Given the description of an element on the screen output the (x, y) to click on. 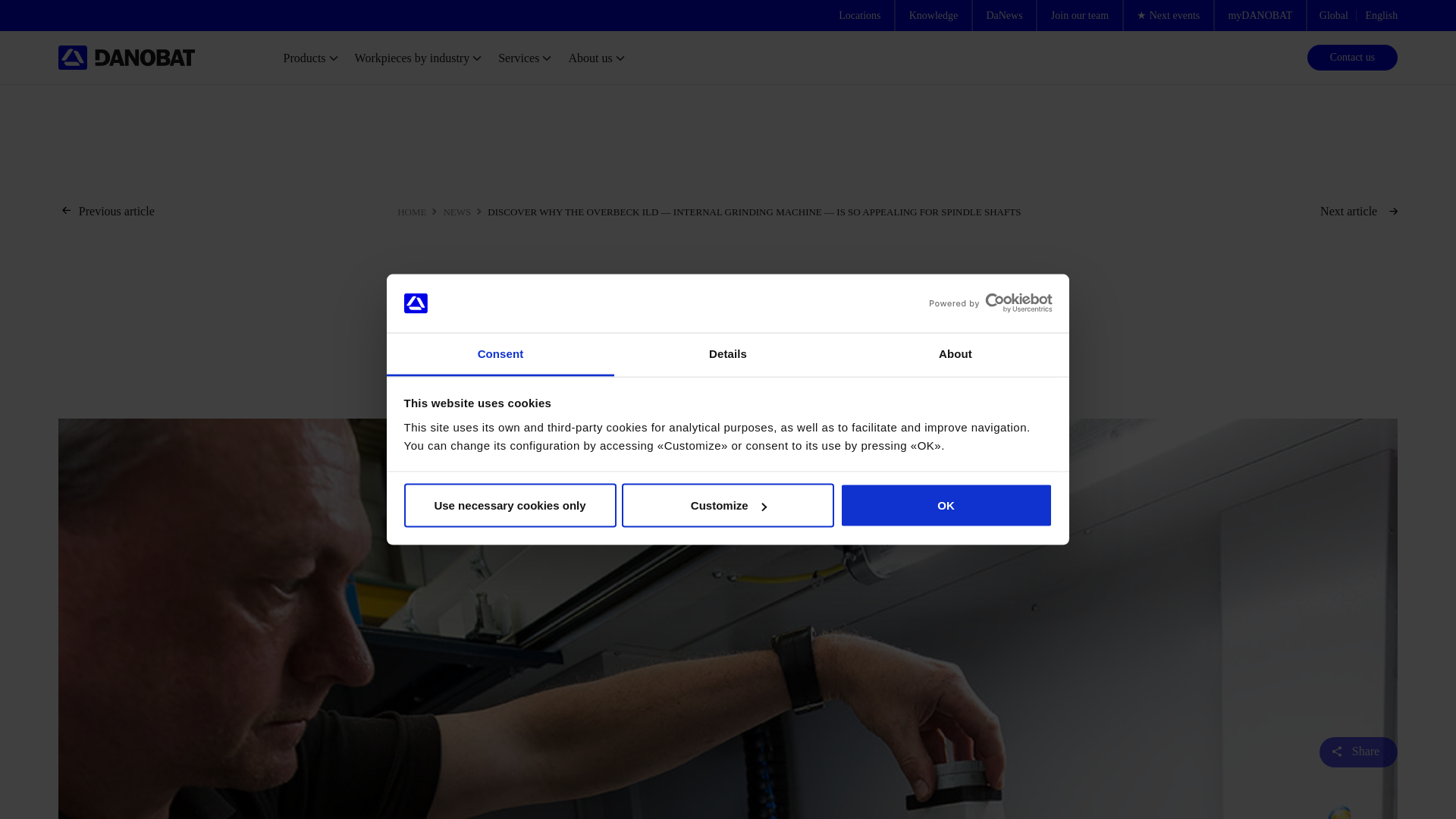
Customize (727, 505)
Use necessary cookies only (509, 505)
Home (126, 57)
Details (727, 353)
About (954, 353)
Products (319, 57)
Knowledge (933, 15)
OK (946, 505)
DaNews (1004, 15)
Global English (1352, 15)
